Given the description of an element on the screen output the (x, y) to click on. 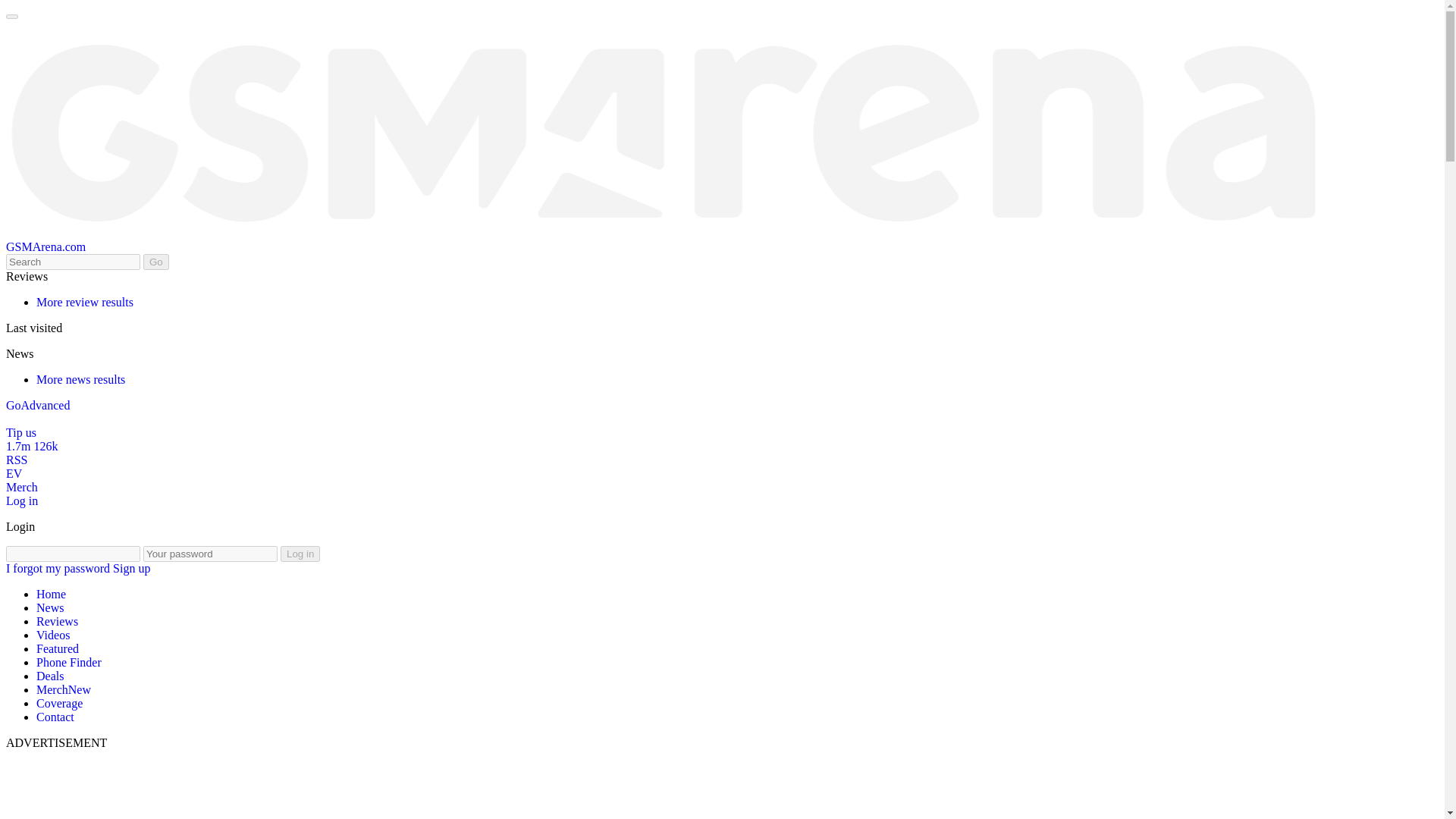
MerchNew (63, 689)
Advanced (45, 404)
Go (155, 261)
Merch (21, 493)
More news results (80, 379)
Contact (55, 716)
Go (155, 261)
More review results (84, 301)
Log in (21, 507)
1.7m (20, 452)
Go (13, 404)
News (50, 607)
Reviews (57, 621)
Tip us (20, 438)
Featured (57, 648)
